Given the description of an element on the screen output the (x, y) to click on. 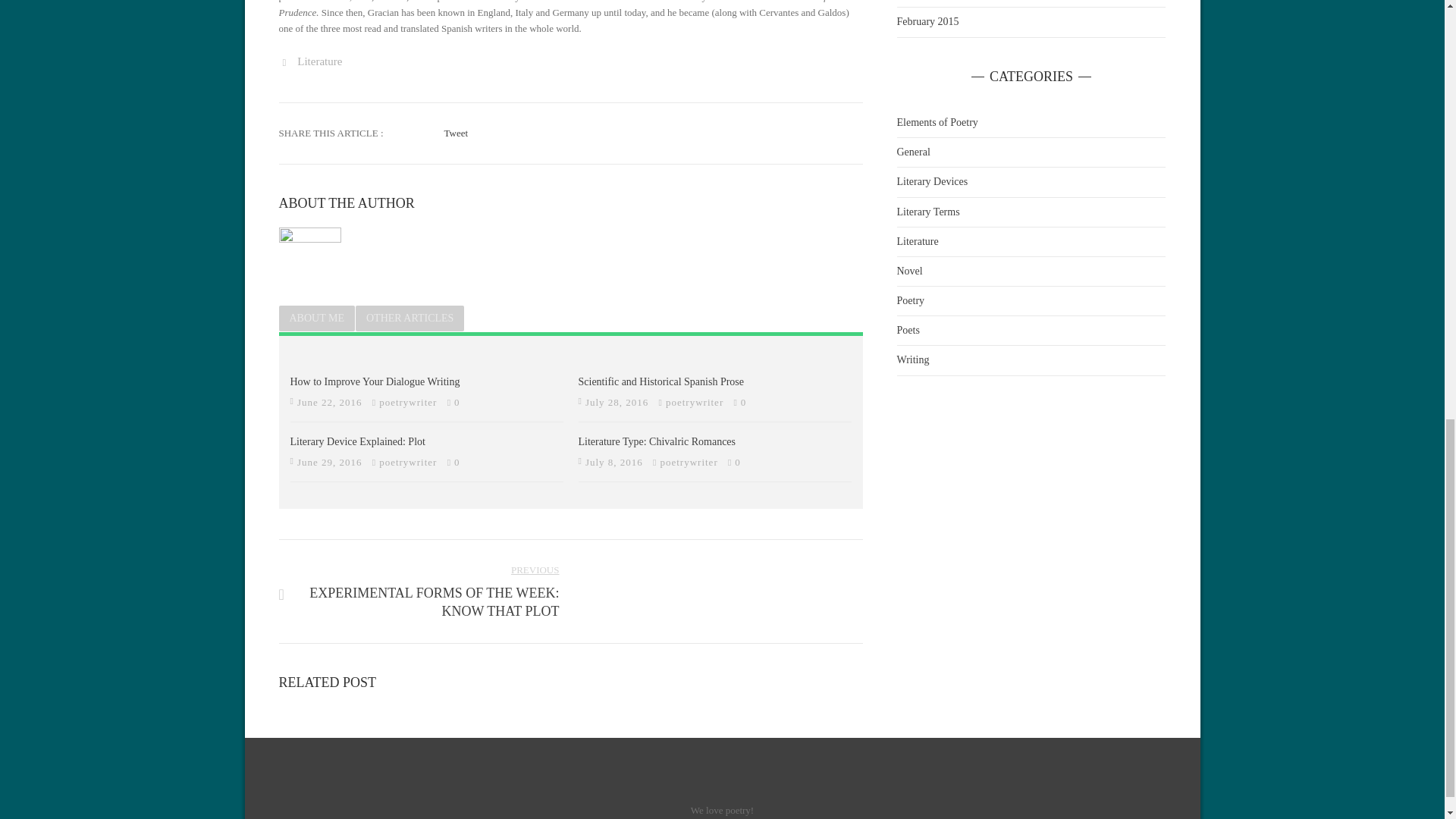
0 (738, 461)
0 (456, 461)
poetrywriter (688, 461)
View all posts in Literature (419, 590)
Literature Type: Chivalric Romances (319, 61)
ABOUT ME (656, 441)
OTHER ARTICLES (316, 317)
How to Improve Your Dialogue Writing (409, 317)
poetrywriter (374, 381)
Literary Device Explained: Plot (695, 401)
Tweet (357, 441)
poetrywriter (456, 132)
0 (408, 401)
Literature (743, 401)
